Given the description of an element on the screen output the (x, y) to click on. 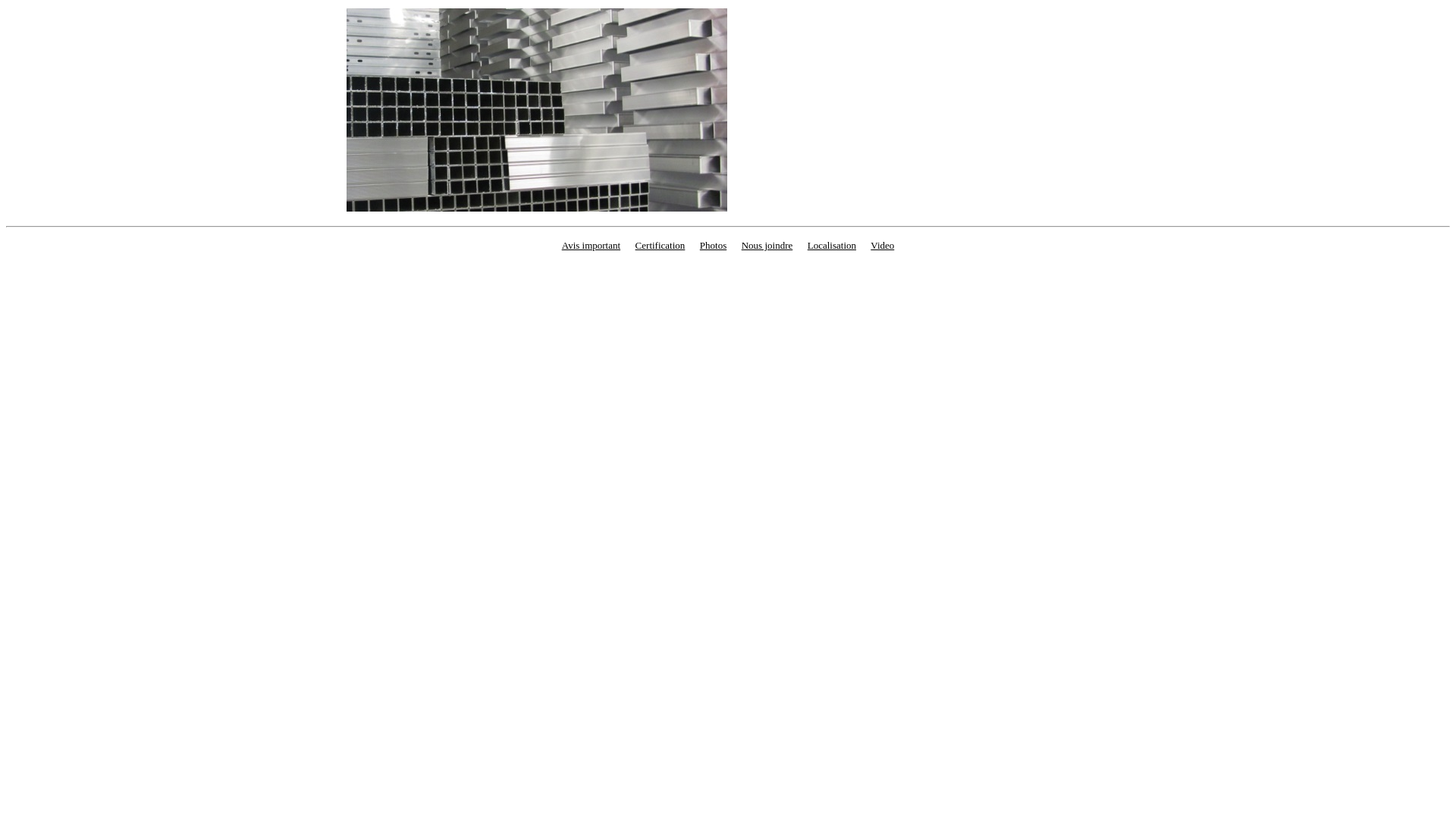
Nous joindre Element type: text (767, 245)
Photos Element type: text (712, 245)
Video Element type: text (882, 245)
Avis important Element type: text (590, 245)
Certification Element type: text (660, 245)
Localisation Element type: text (831, 245)
